Given the description of an element on the screen output the (x, y) to click on. 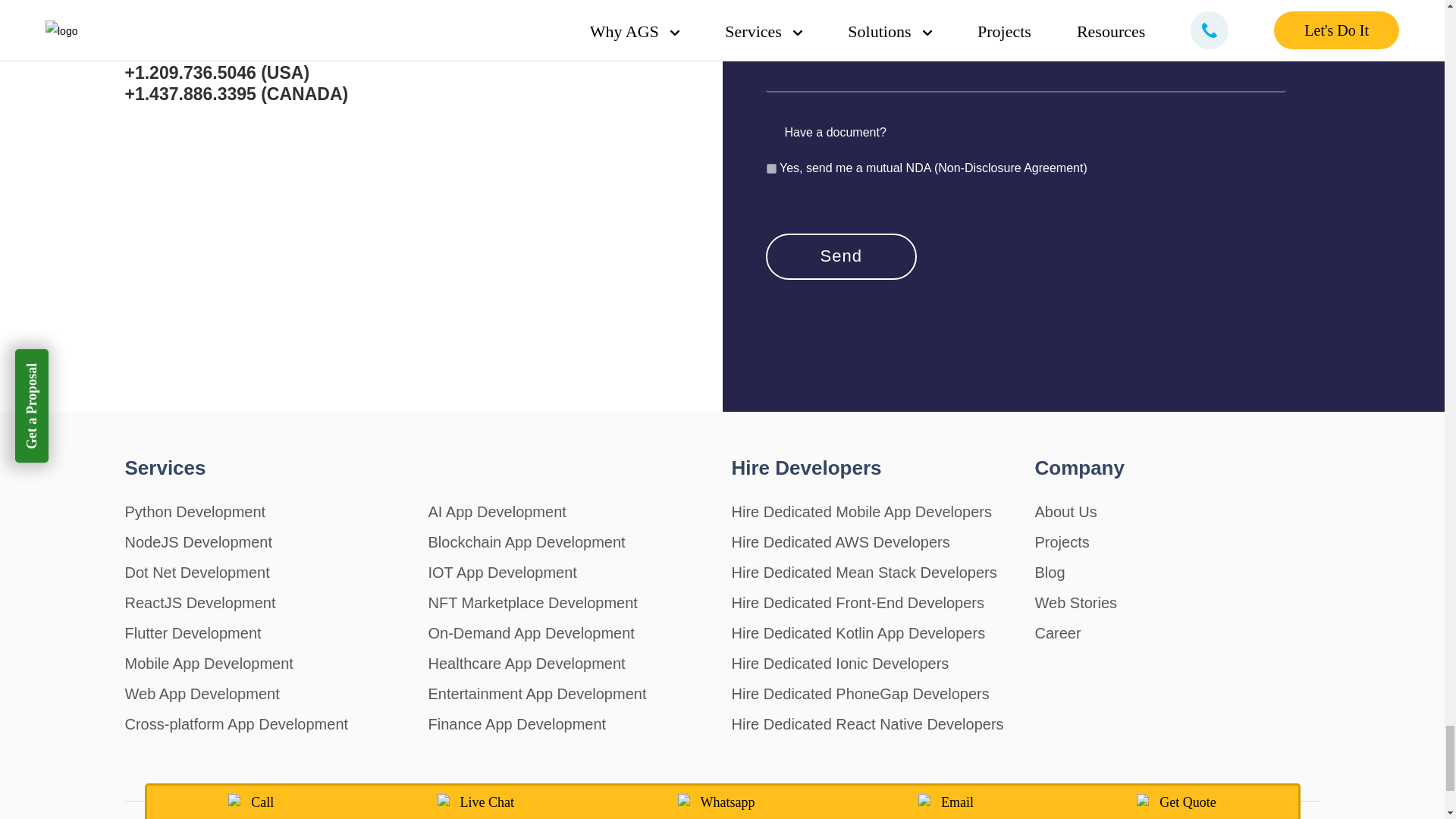
Yes (770, 168)
Send (841, 256)
